Given the description of an element on the screen output the (x, y) to click on. 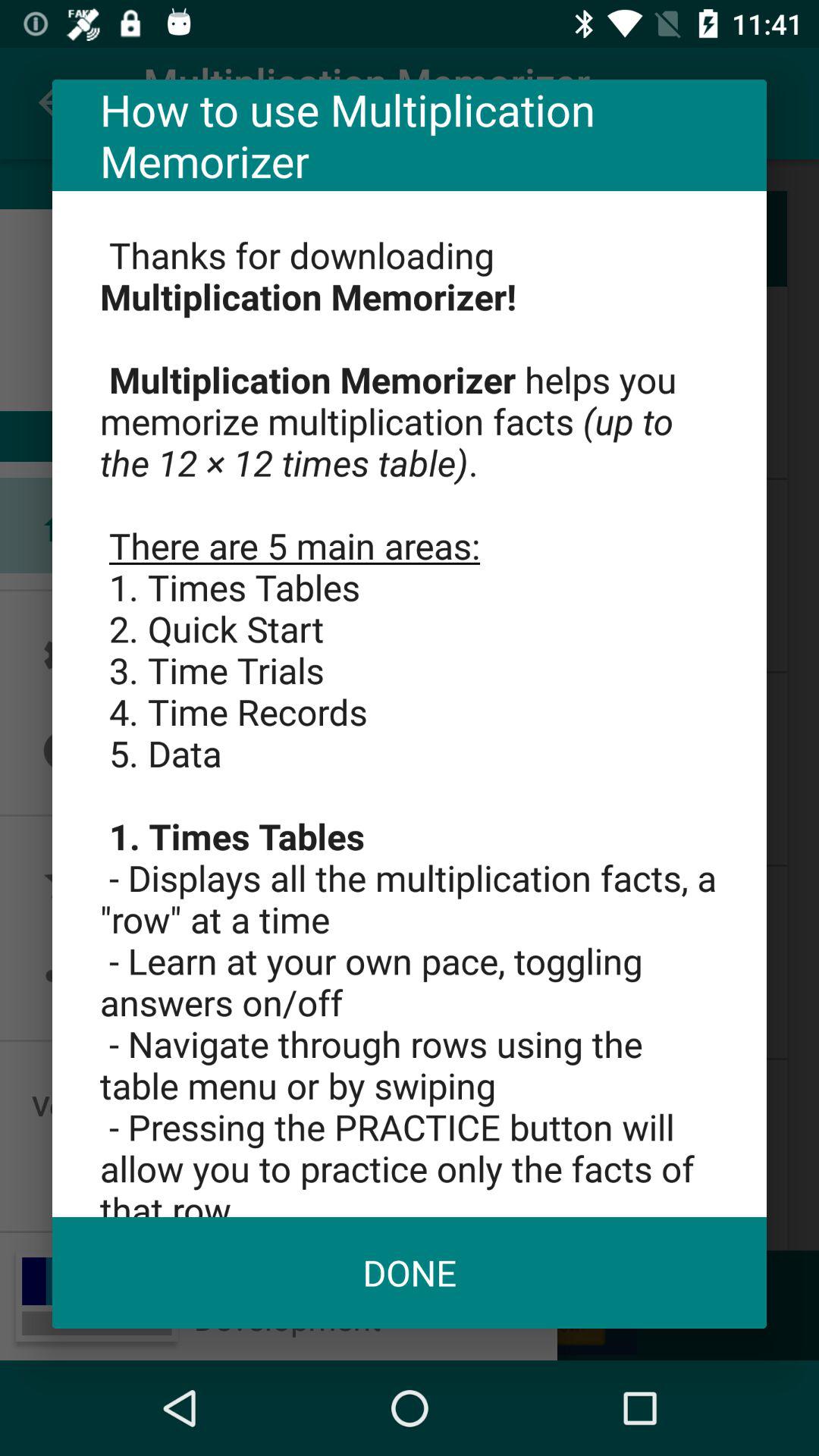
swipe to the done (409, 1272)
